Given the description of an element on the screen output the (x, y) to click on. 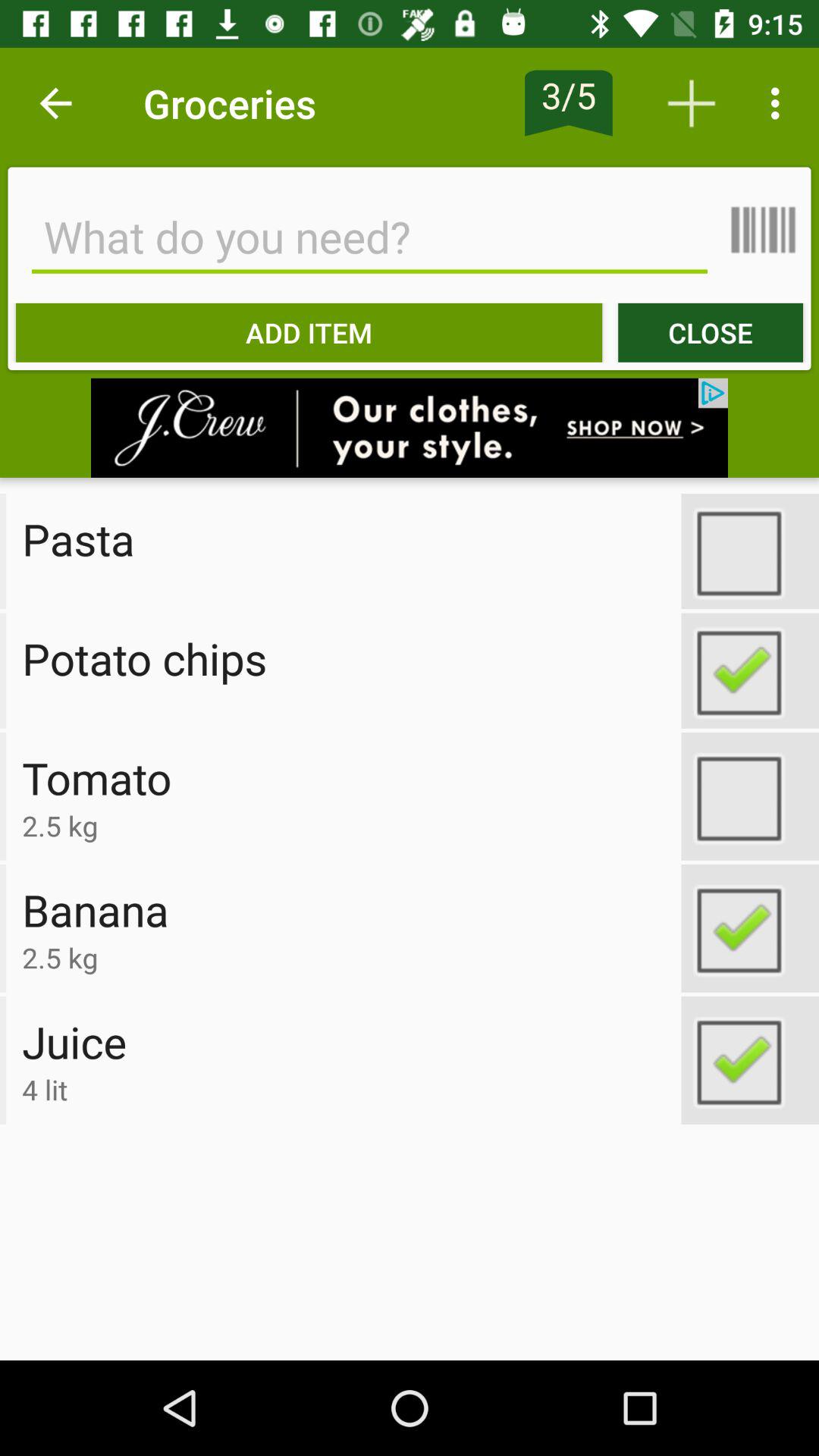
search button (369, 237)
